Given the description of an element on the screen output the (x, y) to click on. 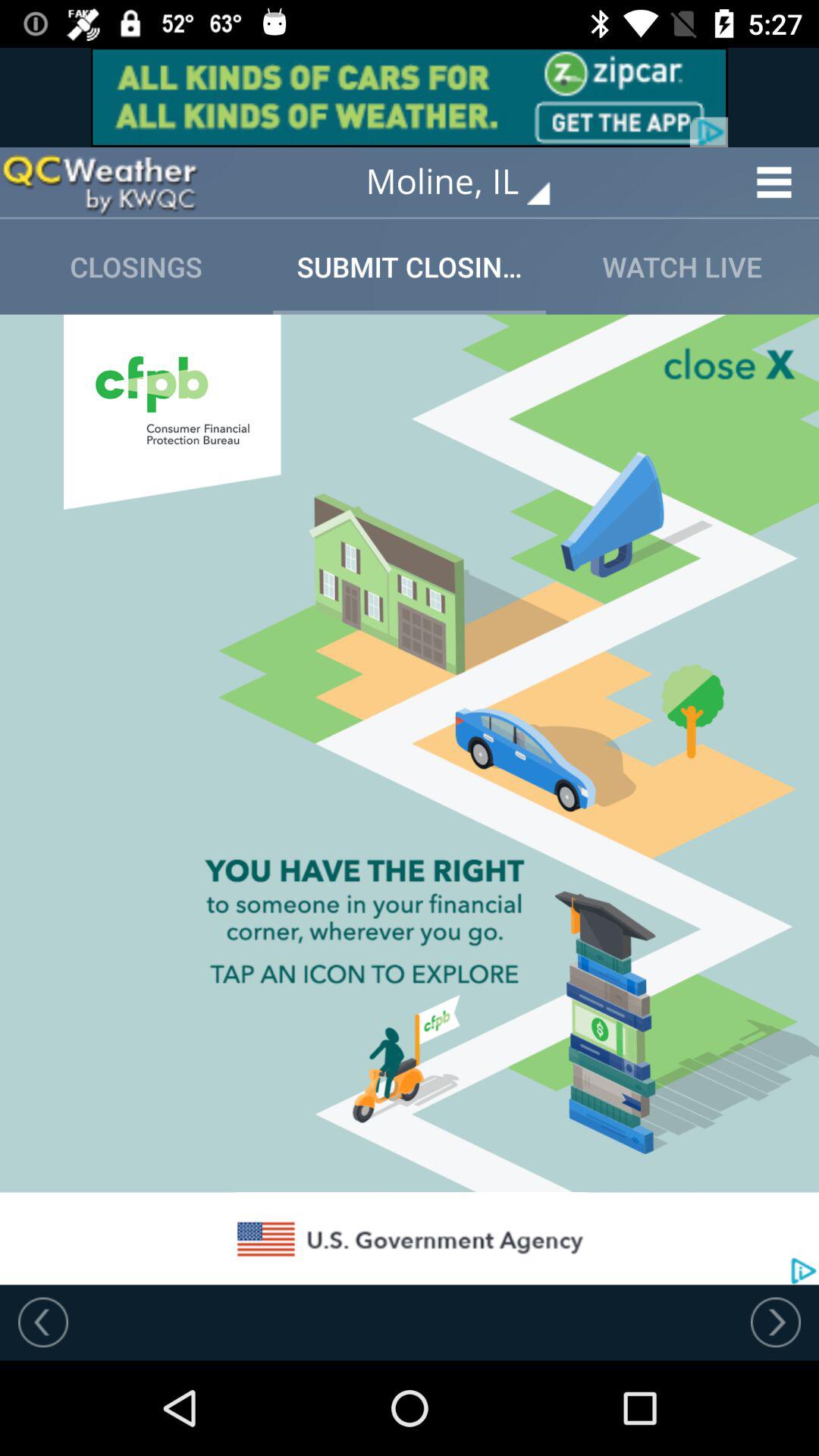
go to next (775, 1322)
